Given the description of an element on the screen output the (x, y) to click on. 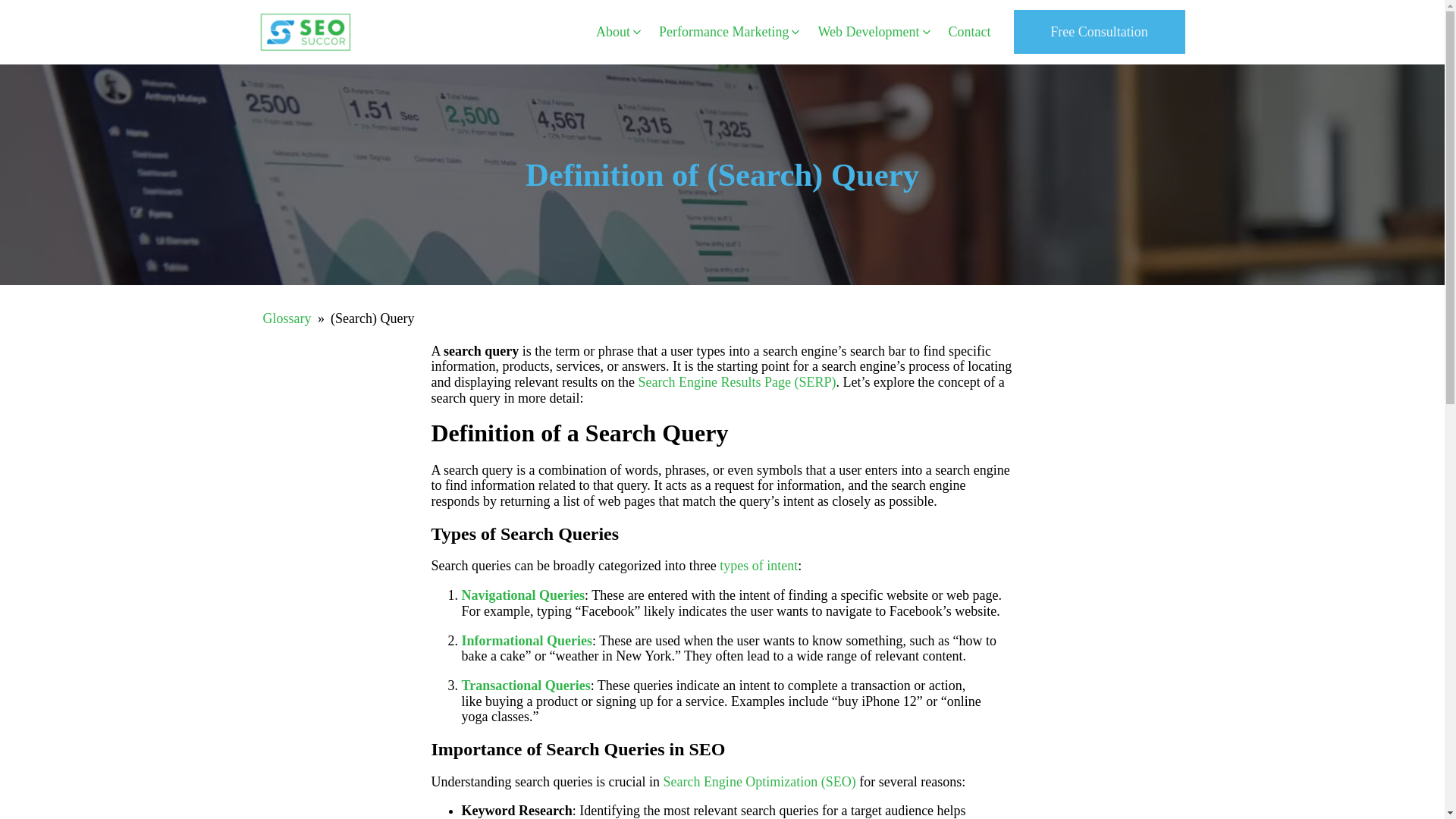
Performance Marketing (729, 32)
Glossary (286, 318)
Navigational Queries (523, 595)
Free Consultation (1099, 31)
types of intent (758, 565)
About (619, 32)
Contact (968, 32)
Web Development (874, 32)
Informational Queries (526, 640)
Breadcrumb link to Glossary (286, 318)
